Given the description of an element on the screen output the (x, y) to click on. 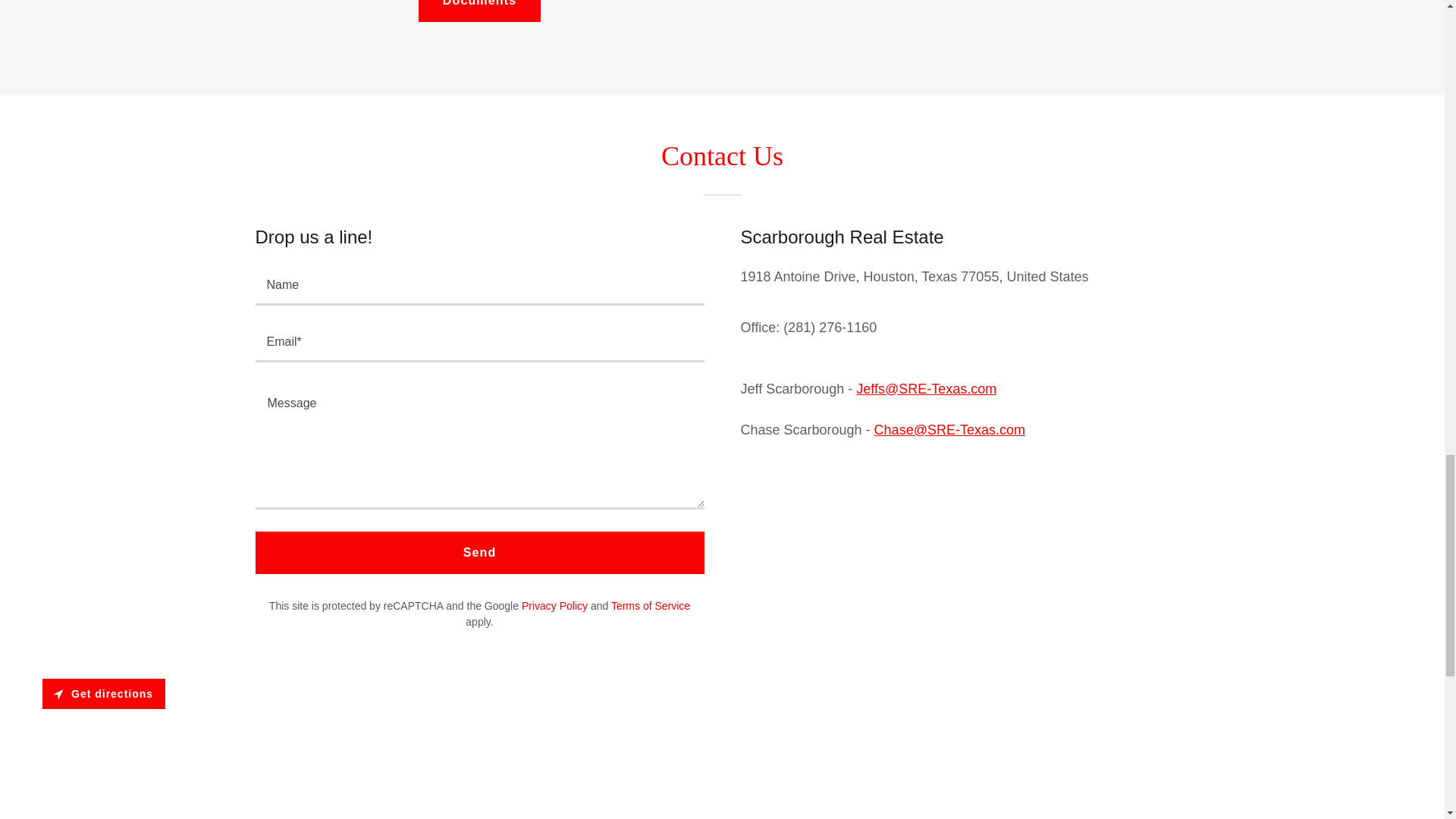
Send (478, 552)
Documents (479, 11)
Privacy Policy (554, 605)
Terms of Service (650, 605)
Get directions (103, 693)
